Given the description of an element on the screen output the (x, y) to click on. 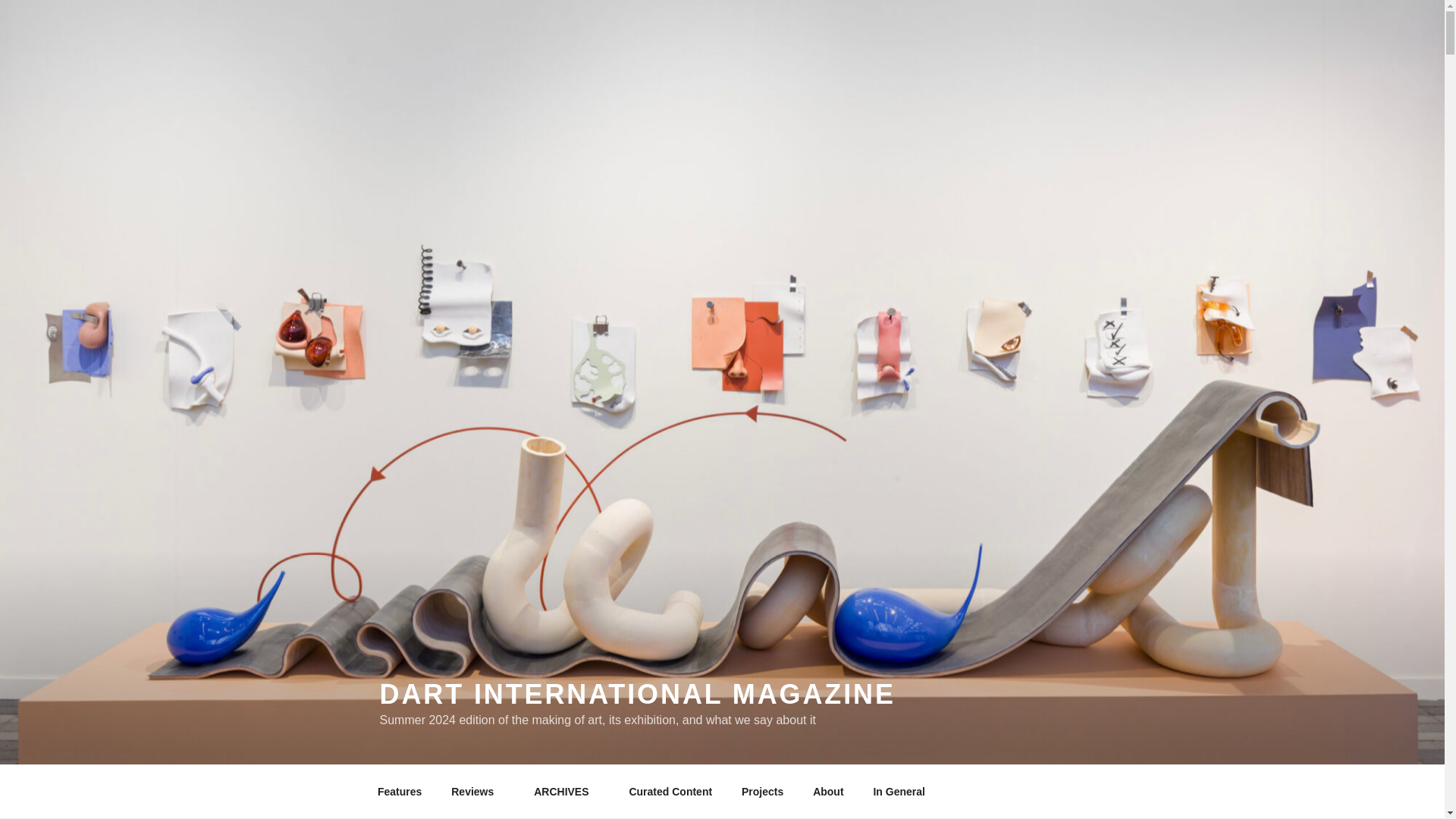
ARCHIVES (566, 791)
Scroll down to content (1082, 791)
Projects (762, 791)
About (828, 791)
DART INTERNATIONAL MAGAZINE (636, 694)
Curated Content (670, 791)
Reviews (478, 791)
Features (398, 791)
Scroll down to content (1082, 791)
In General (898, 791)
